Given the description of an element on the screen output the (x, y) to click on. 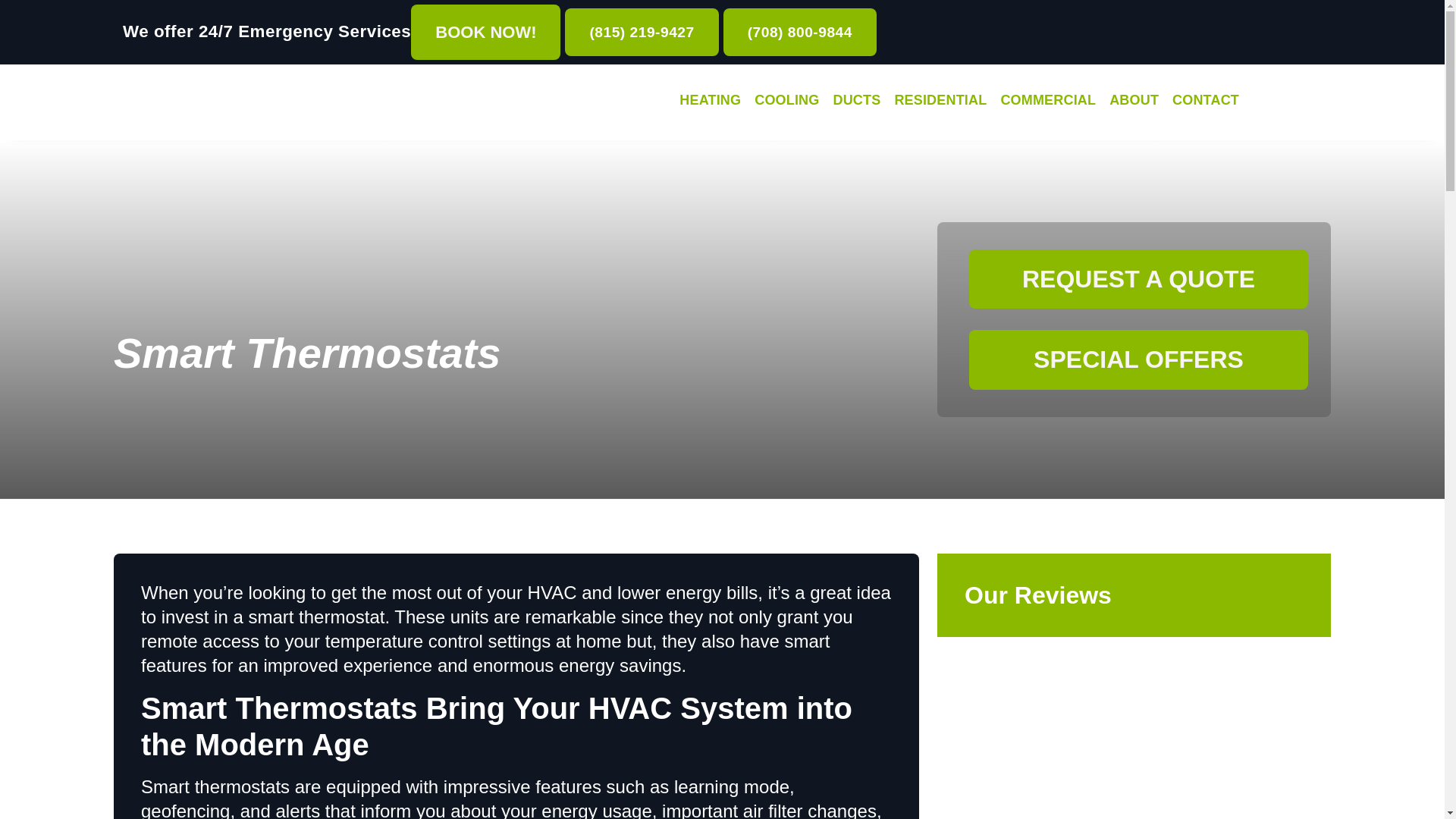
DUCTS (855, 102)
ABOUT (1134, 102)
BOOK NOW! (485, 31)
COMMERCIAL (1047, 102)
HEATING (710, 102)
COOLING (786, 102)
RESIDENTIAL (939, 102)
